Given the description of an element on the screen output the (x, y) to click on. 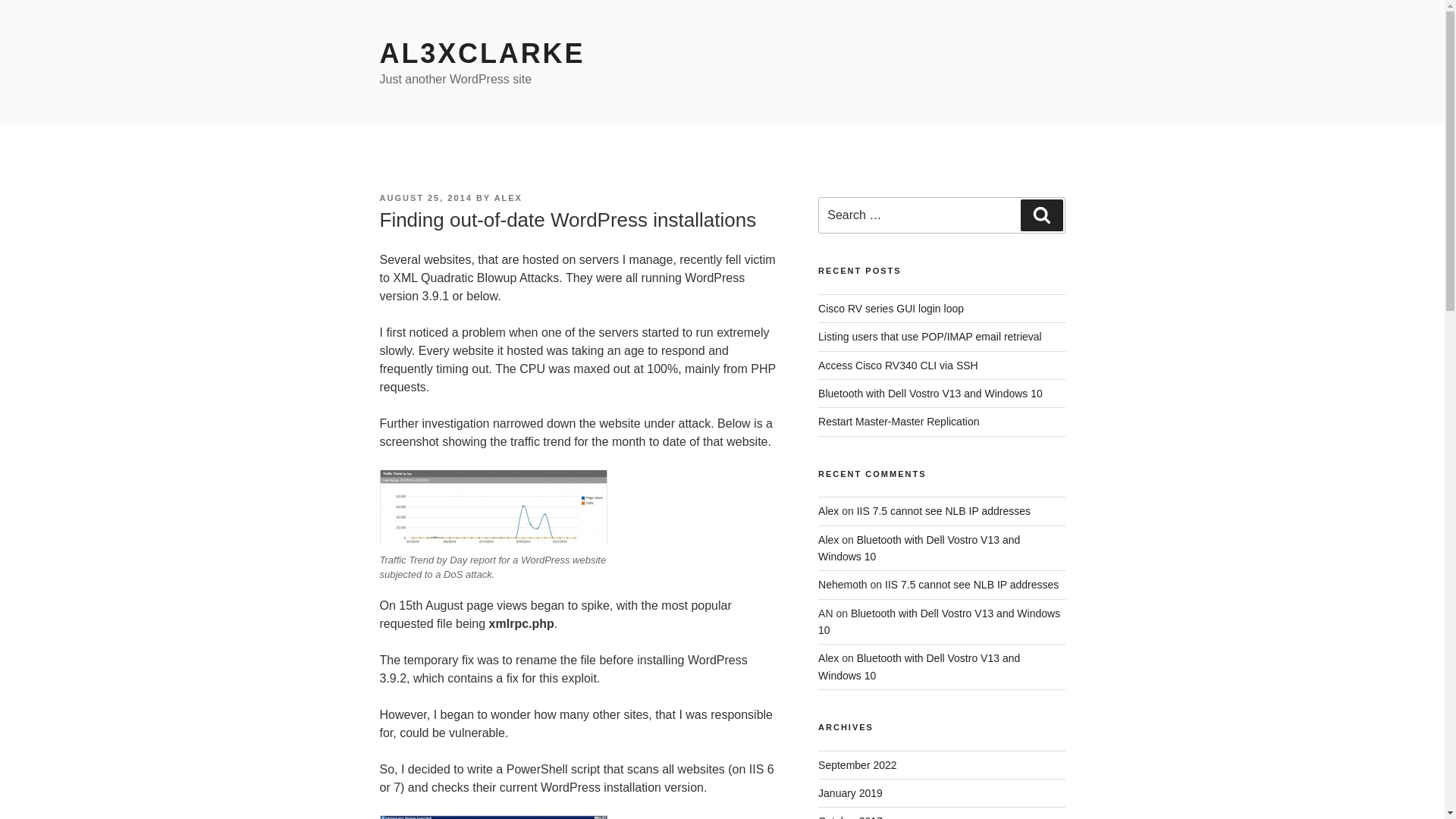
January 2019 (850, 793)
Bluetooth with Dell Vostro V13 and Windows 10 (919, 547)
IIS 7.5 cannot see NLB IP addresses (943, 510)
Alex (828, 510)
Bluetooth with Dell Vostro V13 and Windows 10 (930, 393)
Access Cisco RV340 CLI via SSH (898, 365)
ALEX (508, 197)
September 2022 (857, 765)
Alex (828, 539)
